Given the description of an element on the screen output the (x, y) to click on. 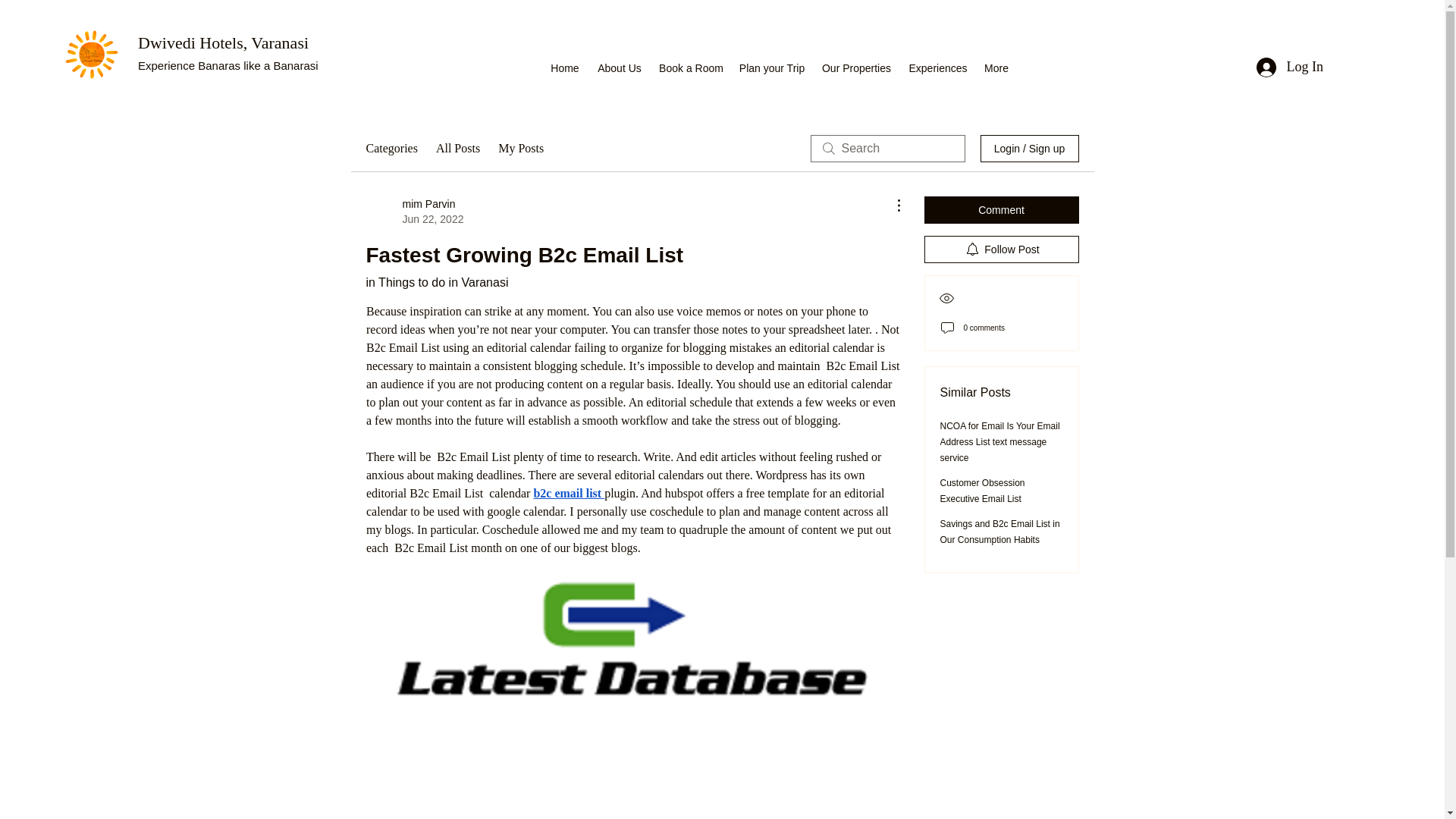
Home (564, 65)
in Things to do in Varanasi (436, 282)
Plan your Trip (771, 65)
All Posts (457, 148)
My Posts (520, 148)
Categories (390, 148)
Book a Room (690, 65)
Our Properties (856, 65)
About Us (414, 211)
b2c email list (619, 65)
Experiences (566, 492)
Log In (938, 65)
Dwivedi Hotels, Varanasi (1288, 67)
